Given the description of an element on the screen output the (x, y) to click on. 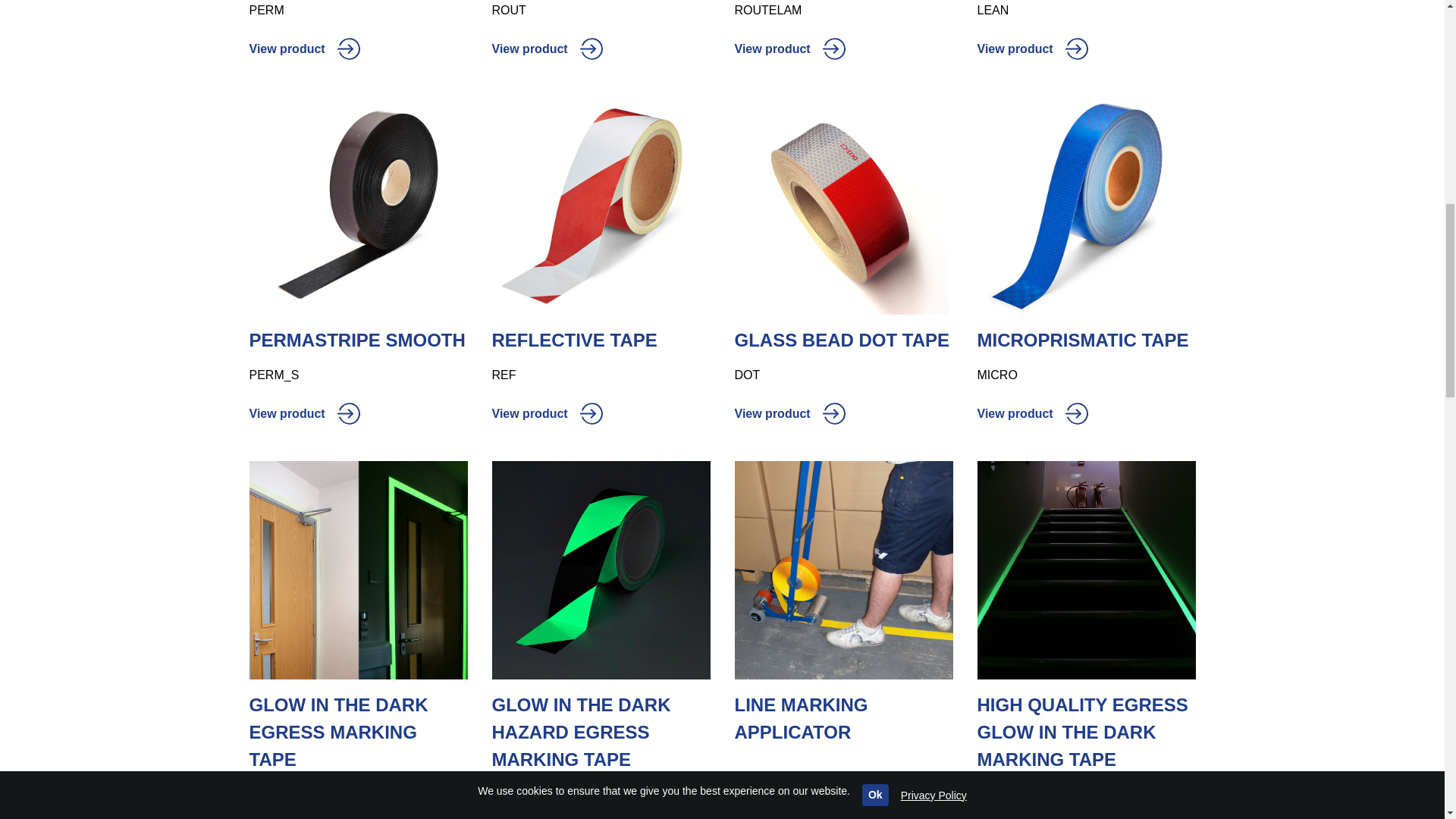
PermaStripe Smooth (357, 339)
Glass Bead DOT Tape (842, 339)
PermaStripe Smooth (357, 205)
Reflective Tape (601, 339)
Reflective Tape (601, 205)
Glass Bead DOT Tape (842, 205)
Microprismatic Tape (1085, 205)
